Given the description of an element on the screen output the (x, y) to click on. 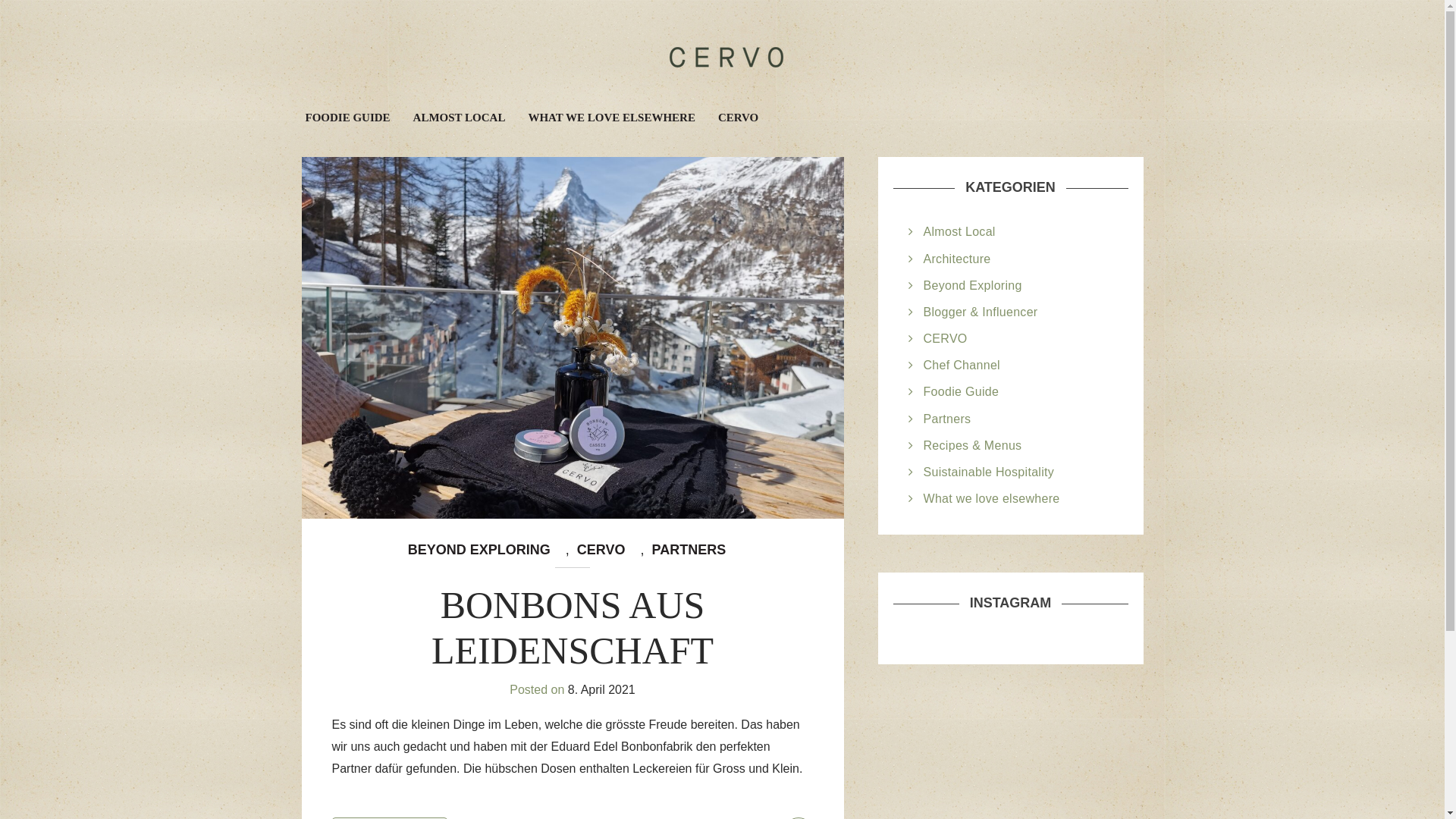
Recipes & Menus Element type: text (972, 445)
BONBONS AUS LEIDENSCHAFT Element type: text (572, 627)
PARTNERS Element type: text (689, 549)
Blogger & Influencer Element type: text (980, 311)
BEYOND EXPLORING Element type: text (479, 549)
Partners Element type: text (947, 418)
FOODIE GUIDE Element type: text (347, 117)
Foodie Guide Element type: text (961, 391)
CERVO Element type: text (945, 338)
What we love elsewhere Element type: text (991, 498)
Architecture Element type: text (957, 258)
WHAT WE LOVE ELSEWHERE Element type: text (611, 117)
ALMOST LOCAL Element type: text (459, 117)
CERVO Element type: text (738, 117)
Beyond Exploring Element type: text (972, 285)
Suistainable Hospitality Element type: text (988, 471)
Posted on 8. April 2021 Element type: text (571, 689)
Almost Local Element type: text (959, 231)
Chef Channel Element type: text (961, 364)
CERVO Element type: text (601, 549)
